Given the description of an element on the screen output the (x, y) to click on. 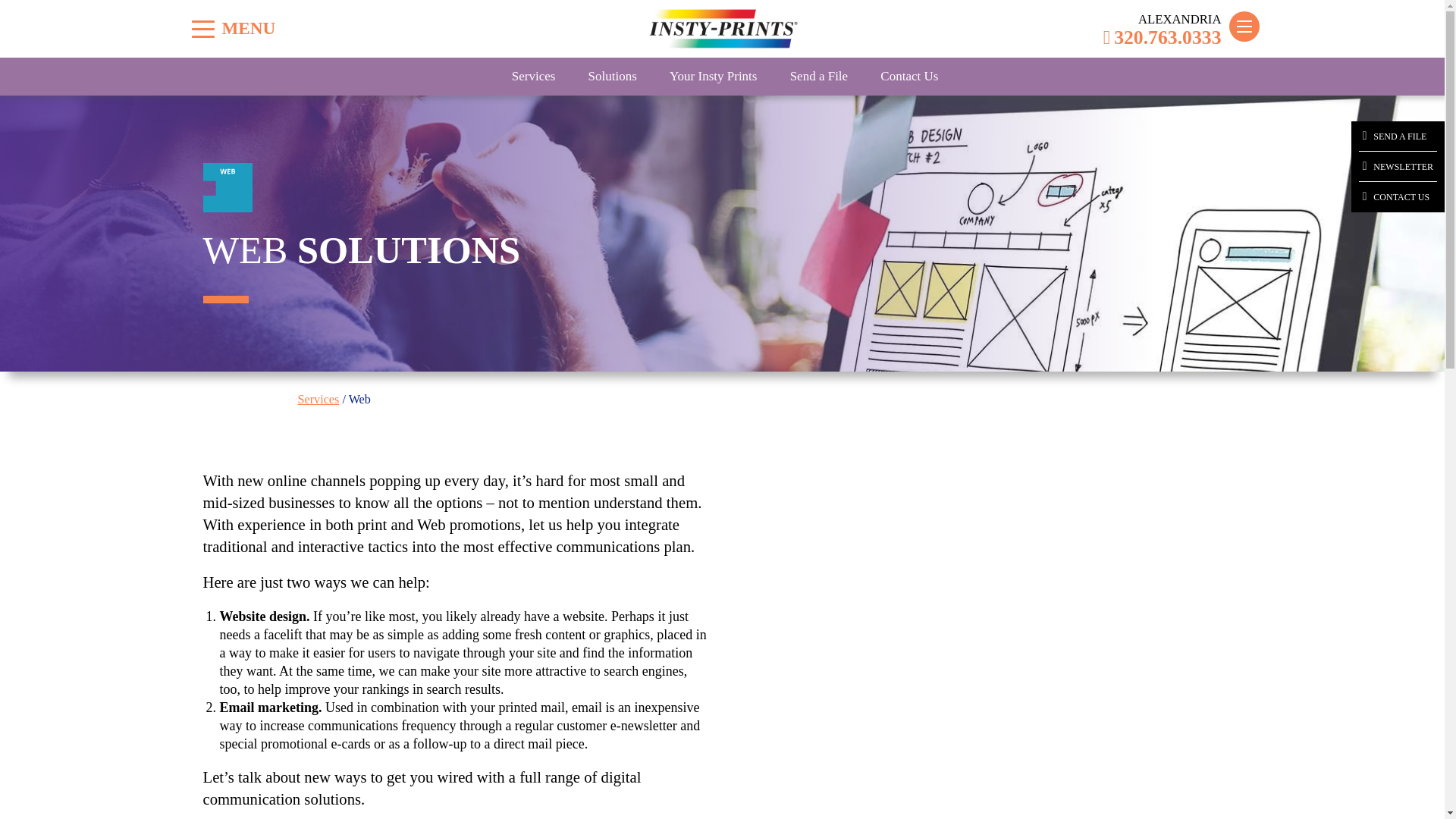
Solutions (612, 76)
Contact Us (908, 76)
320.763.0333 (1162, 37)
Services (318, 399)
Send a File (819, 76)
MENU (202, 28)
Services (534, 76)
Your Insty Prints (713, 76)
